Given the description of an element on the screen output the (x, y) to click on. 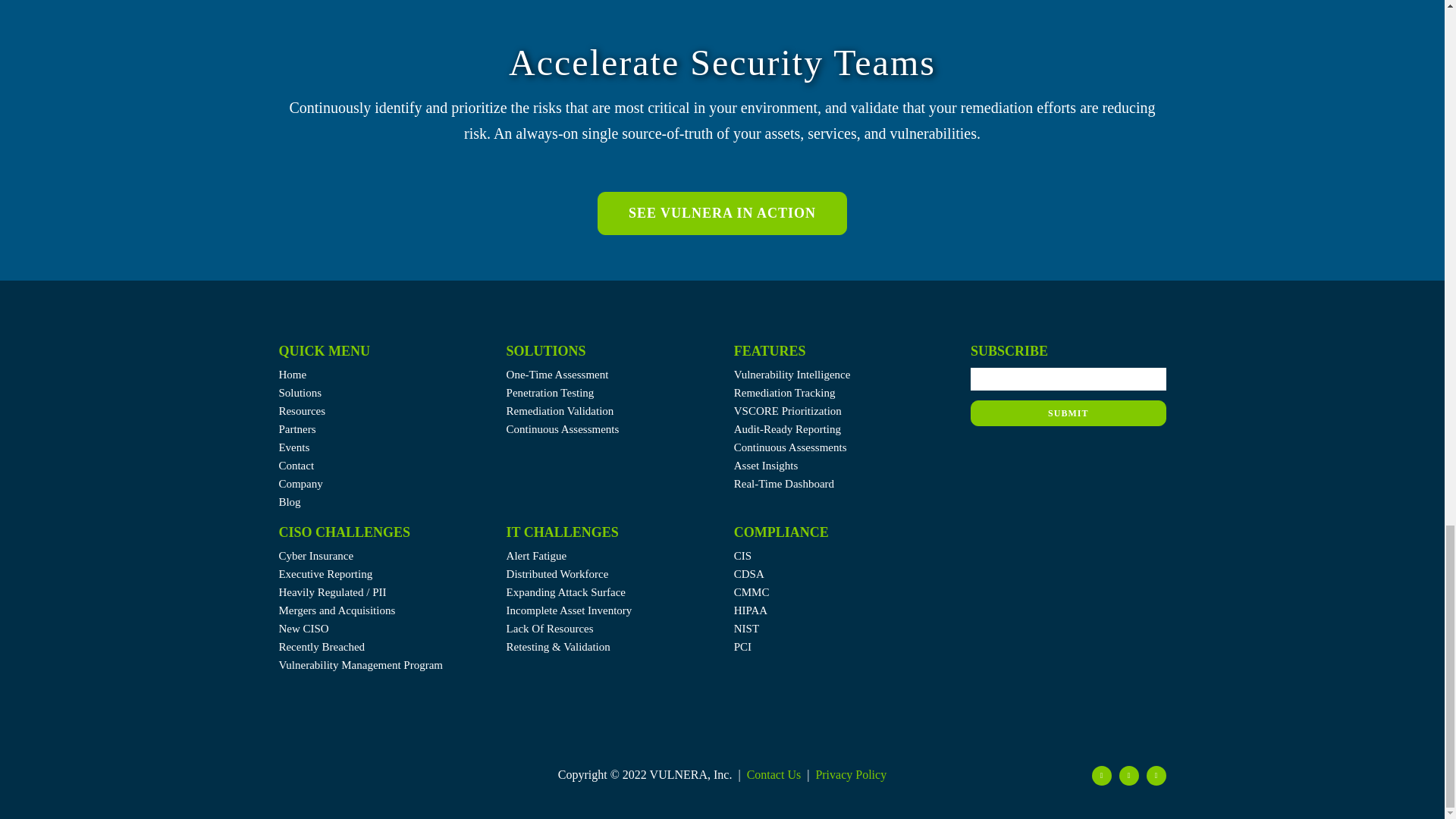
LinkedIn (1128, 775)
YouTube (1156, 775)
Twitter (1102, 775)
SUBMIT (1068, 399)
